Given the description of an element on the screen output the (x, y) to click on. 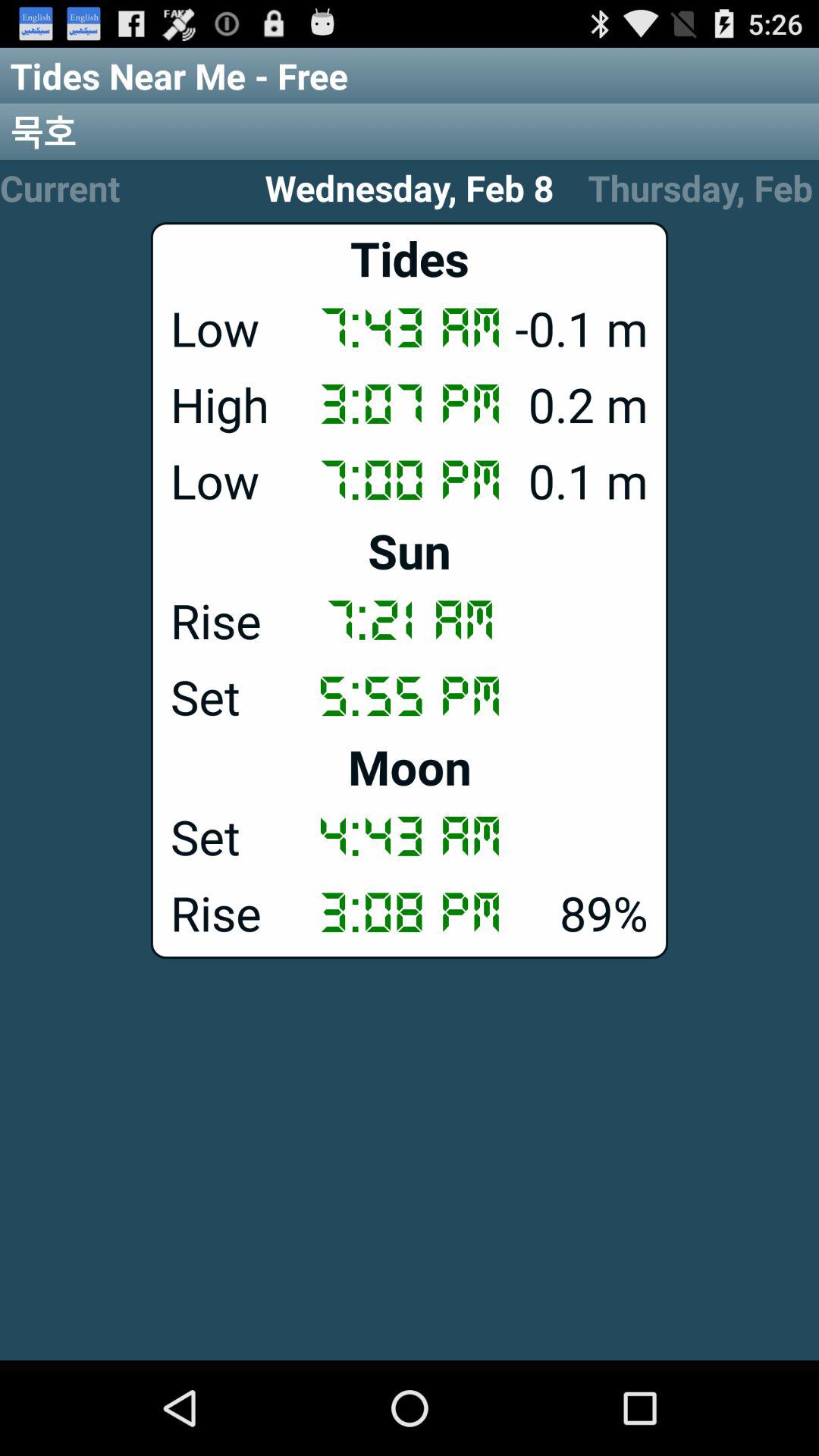
open app below set item (409, 766)
